Given the description of an element on the screen output the (x, y) to click on. 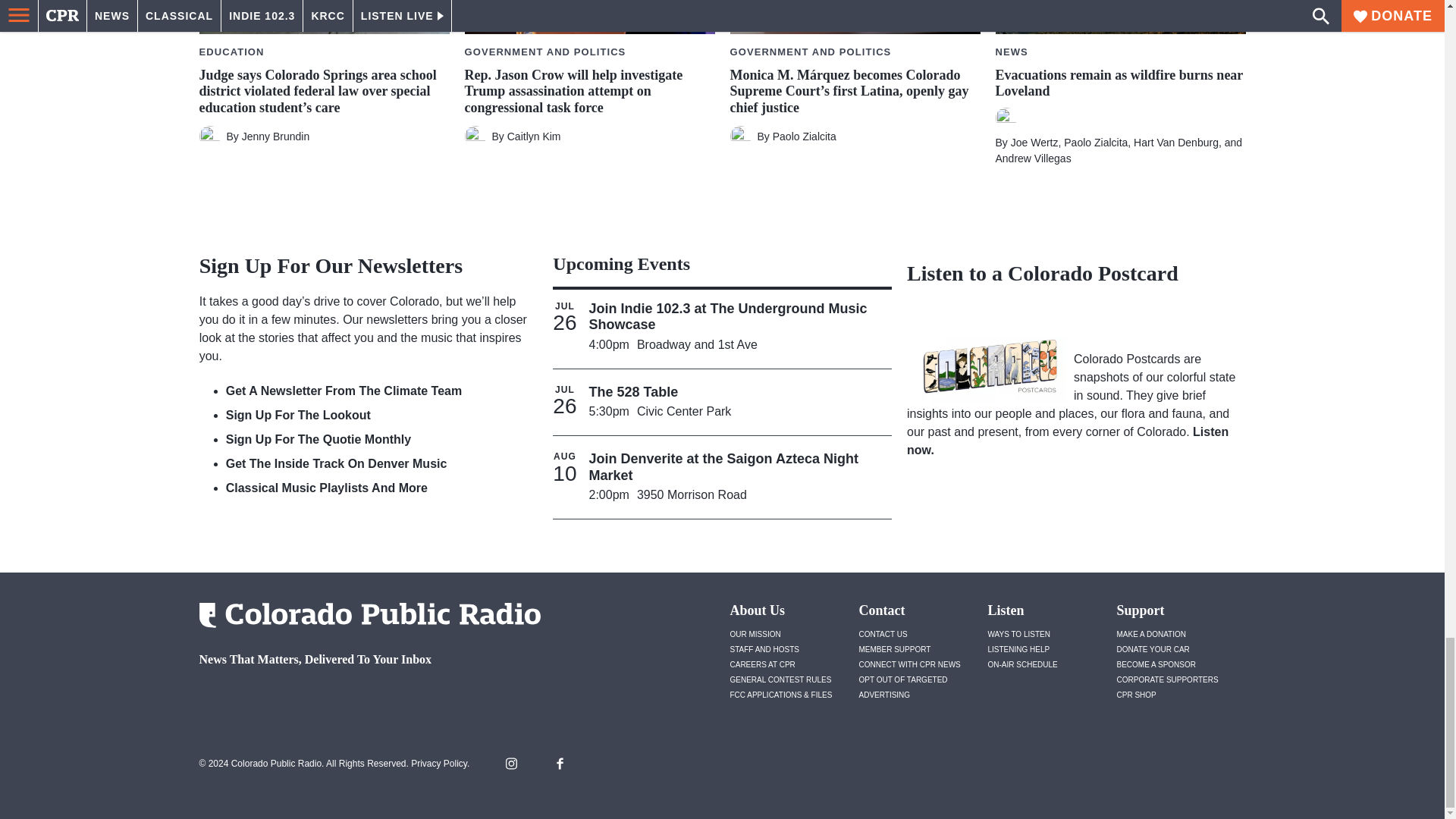
footer (364, 699)
